Given the description of an element on the screen output the (x, y) to click on. 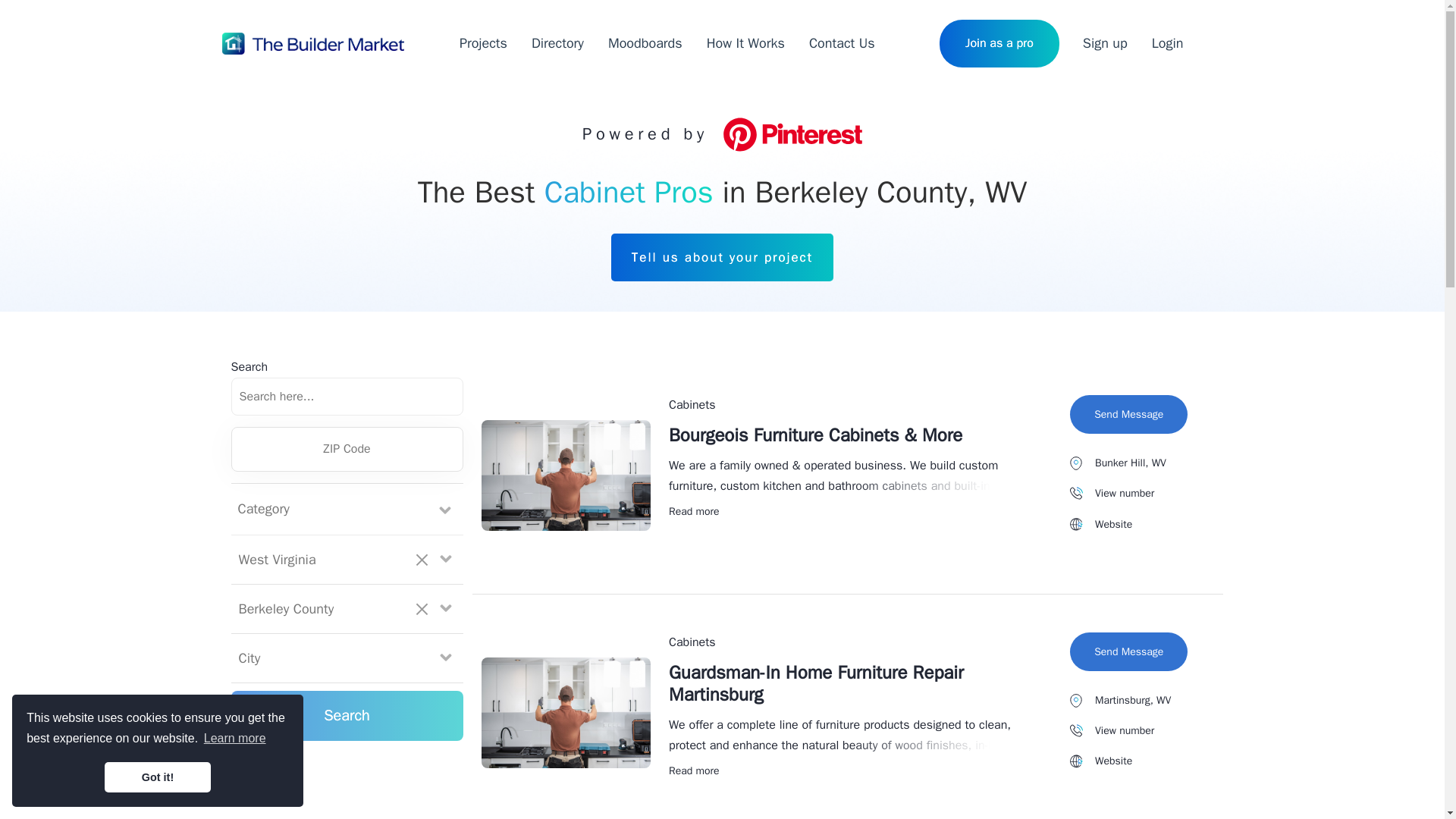
Got it! (157, 777)
Tell us about your project (721, 257)
Sign up (1105, 43)
How It Works (745, 43)
Join as a pro (999, 43)
Website (1100, 524)
Directory (557, 43)
Clear all (421, 559)
Login (1167, 43)
Send Message (1129, 651)
Send Message (1129, 414)
Learn more (234, 738)
Guardsman-In Home Furniture Repair Martinsburg (815, 682)
Projects (482, 43)
